Given the description of an element on the screen output the (x, y) to click on. 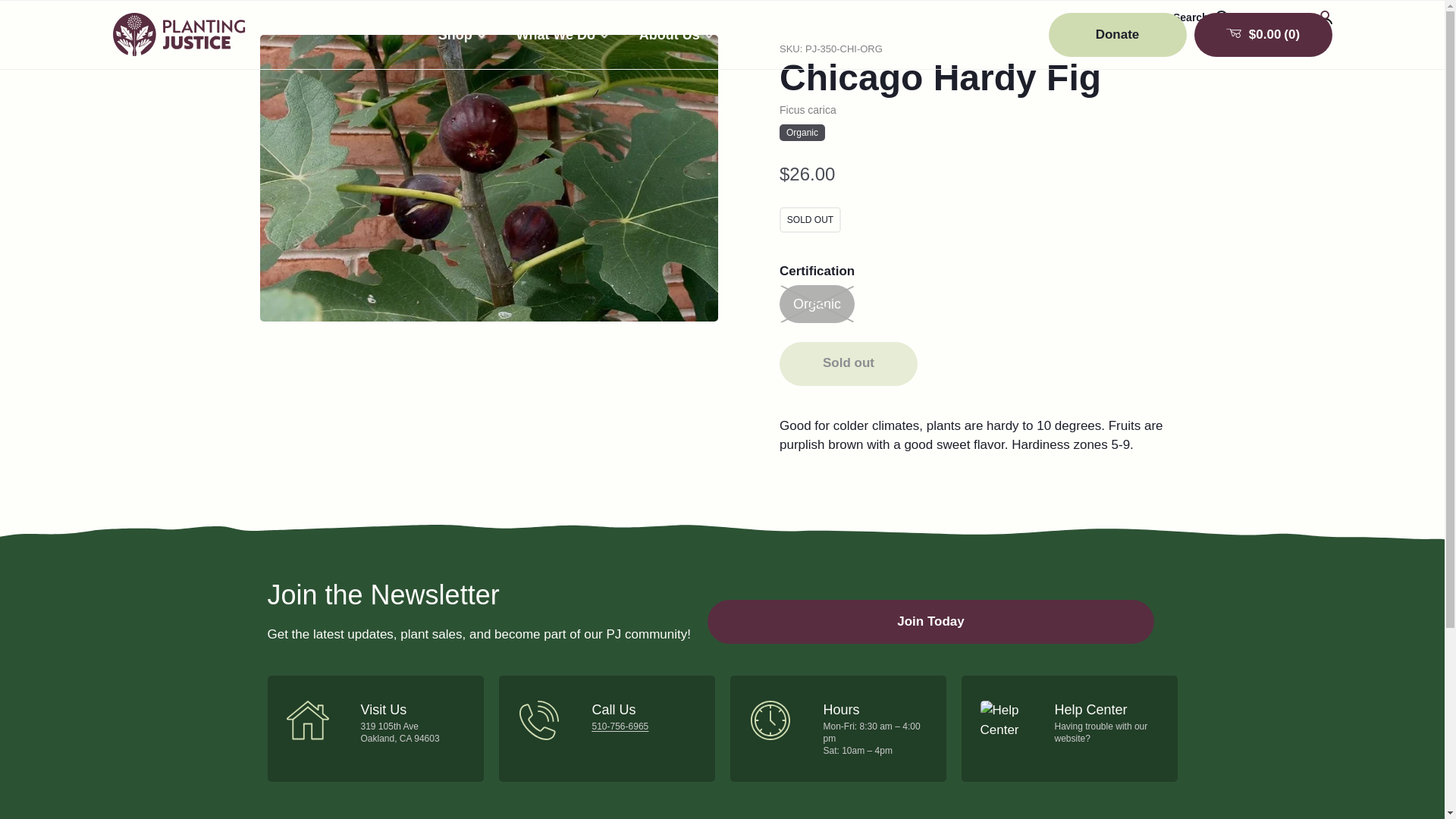
Search (1200, 17)
Shop (462, 34)
My Account (1291, 17)
